Given the description of an element on the screen output the (x, y) to click on. 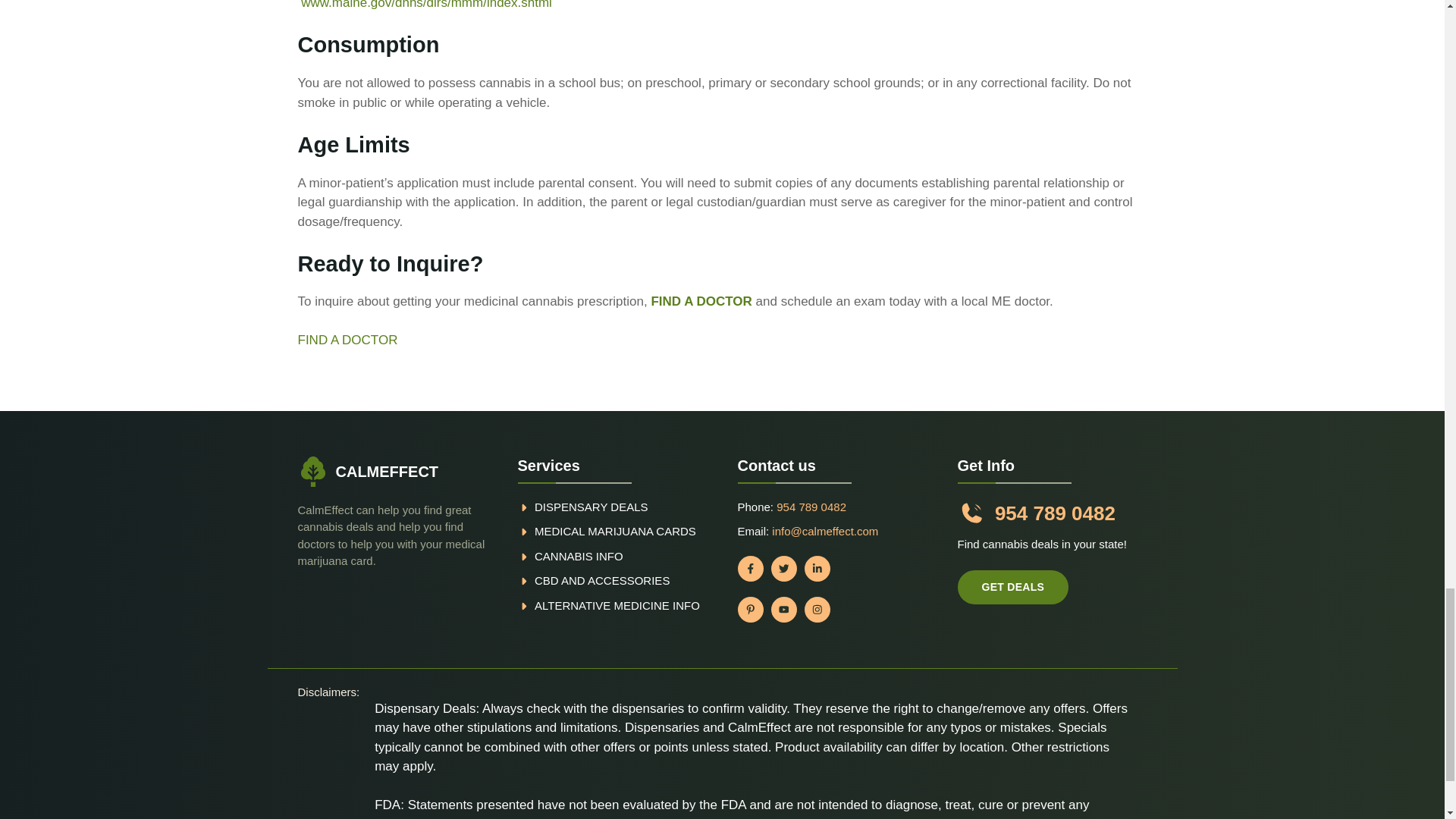
FIND A DOCTOR (700, 301)
MARIJUANA (620, 530)
ALTERNATIVE MEDICINE INFO (617, 604)
MEDICAL (561, 530)
DEALS (628, 506)
CBD AND ACCESSORIES (601, 580)
CARDS (673, 530)
DISPENSARY (570, 506)
INFO (609, 555)
FIND A DOCTOR (347, 339)
